Given the description of an element on the screen output the (x, y) to click on. 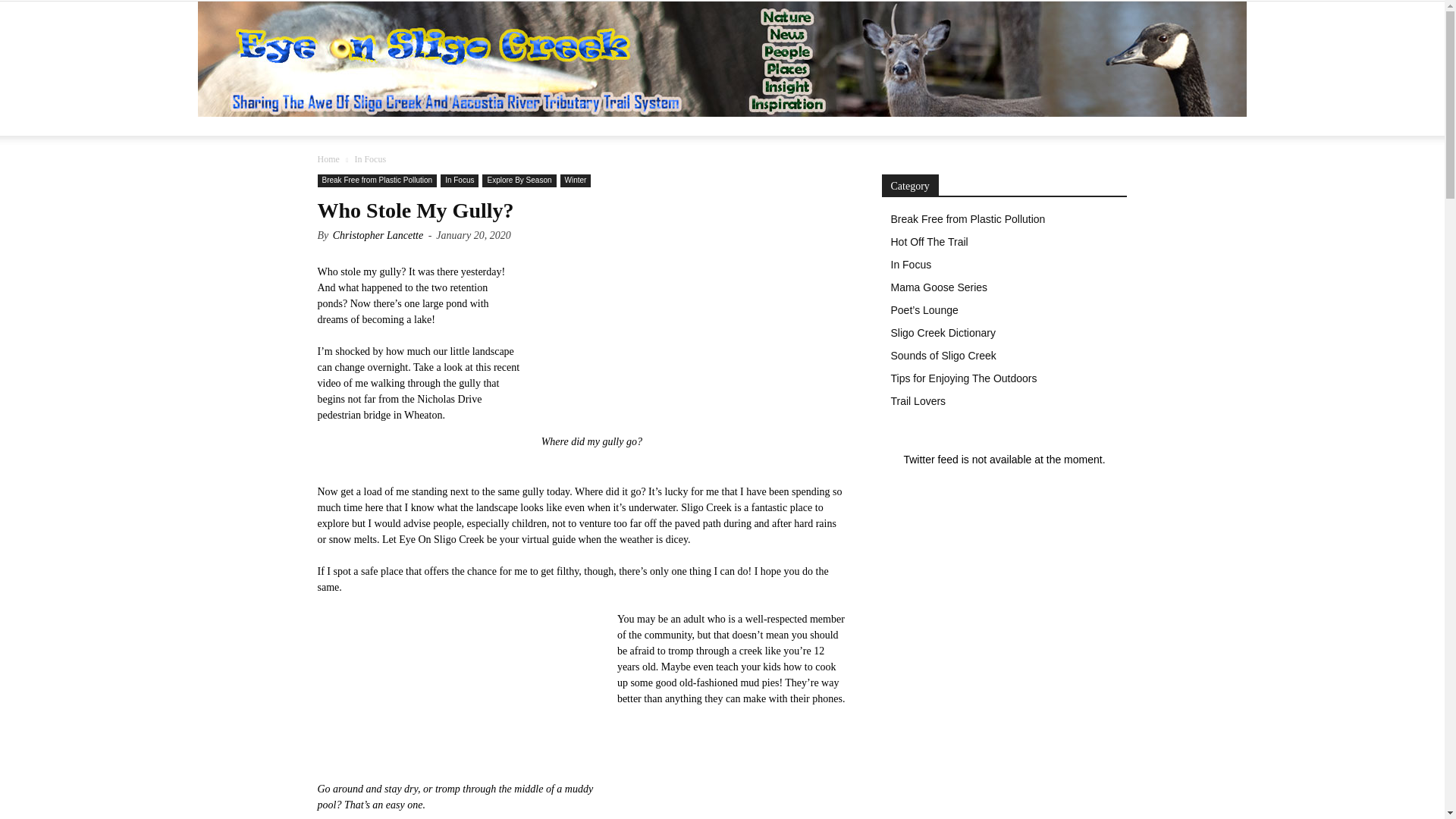
Who Stole My Gully (673, 338)
HOME (344, 126)
Facebook (1025, 126)
IN FOCUS (408, 126)
VIDEO GALLERY (748, 126)
Twitter (1050, 126)
Youtube (1075, 126)
Not Getting Dirty Enough (449, 685)
Eye On Sligo Creek (722, 59)
PHOTO GALLERY (635, 126)
EXPLORE BY SEASON (511, 126)
AUDIO GALLERY (859, 126)
